Given the description of an element on the screen output the (x, y) to click on. 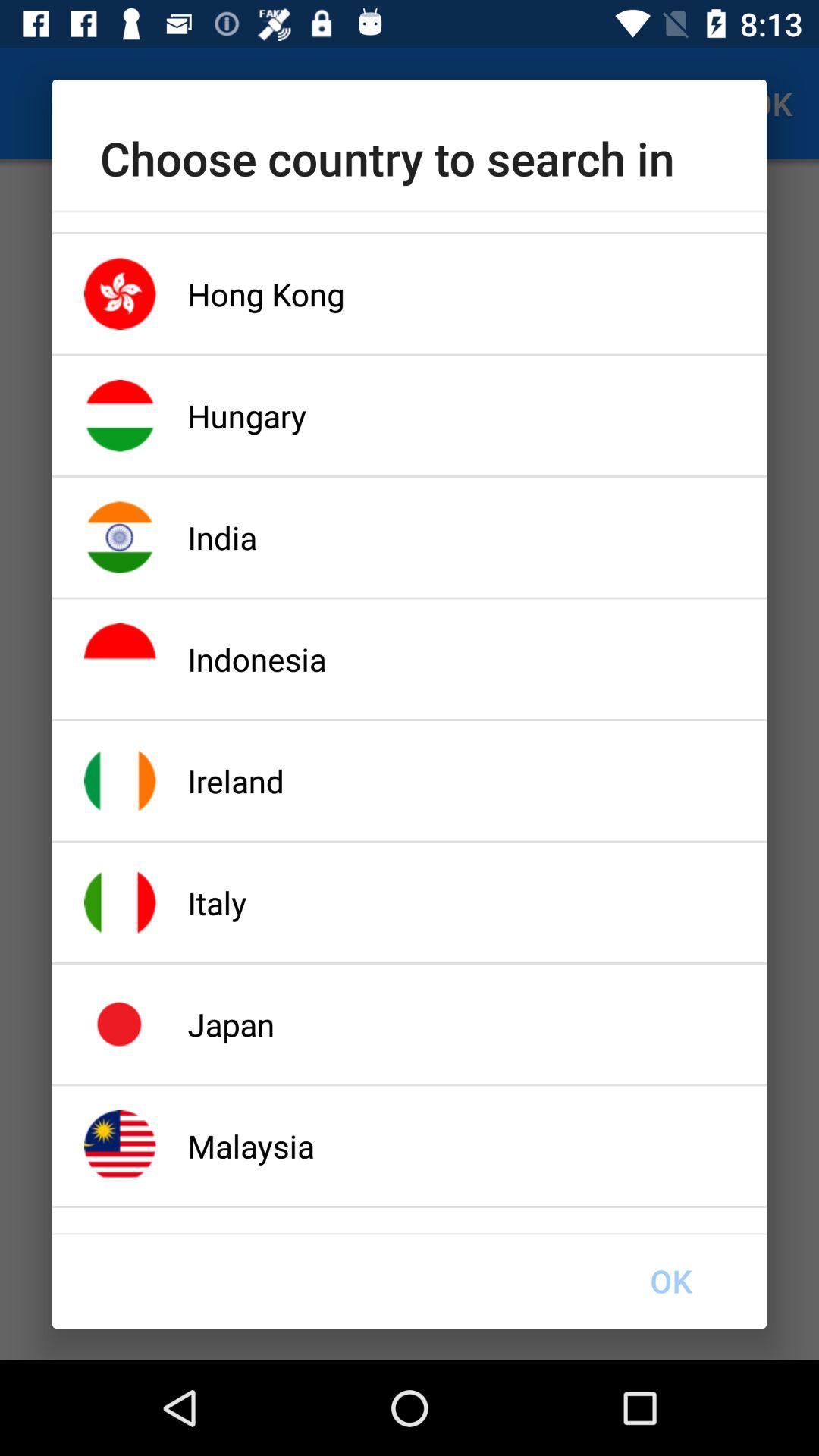
tap ok (670, 1280)
